Given the description of an element on the screen output the (x, y) to click on. 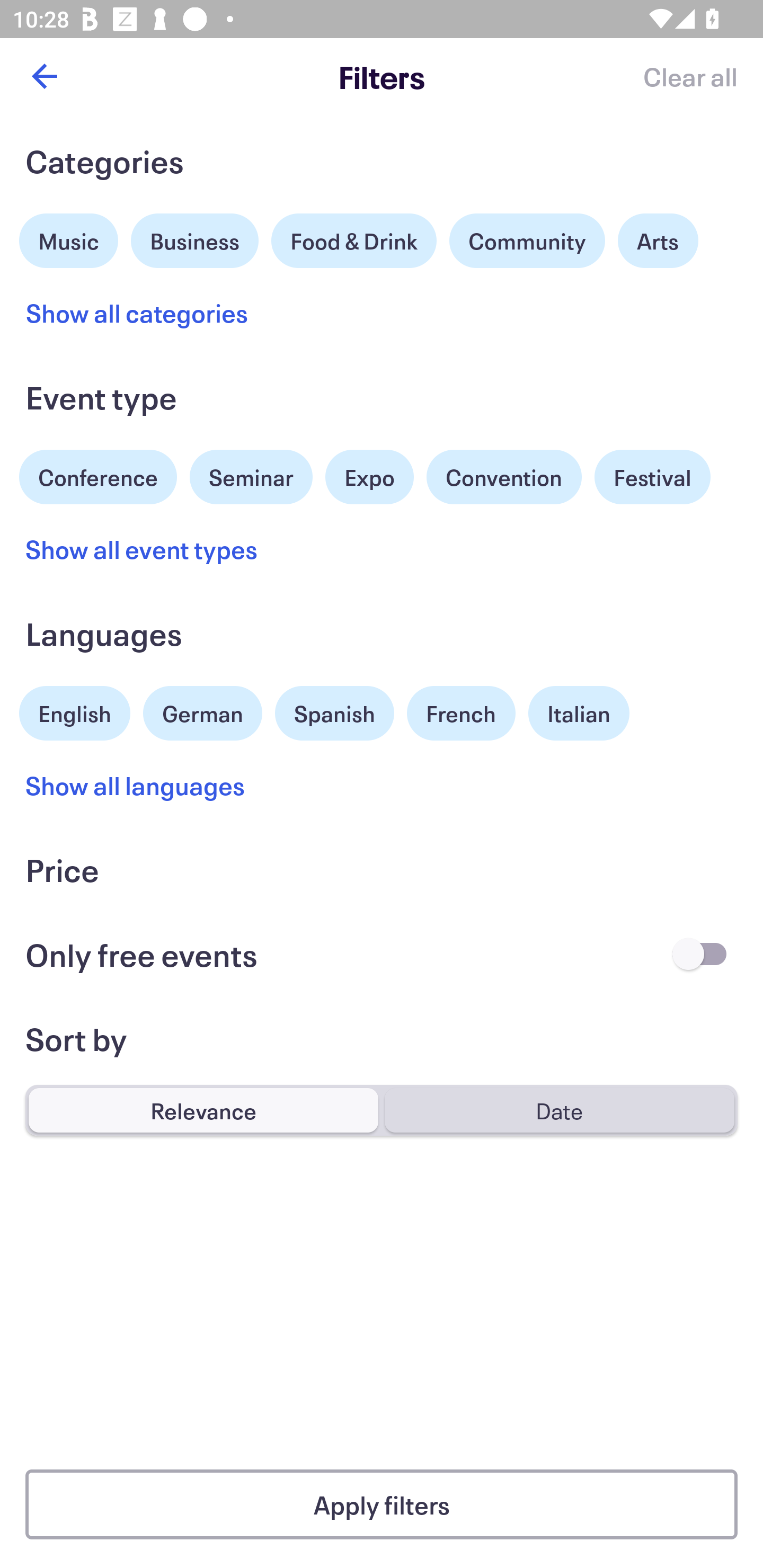
Back button (44, 75)
Clear all (690, 75)
Music (68, 238)
Business (194, 238)
Food & Drink (353, 240)
Community (527, 240)
Arts (658, 240)
Show all categories (136, 312)
Conference (98, 475)
Seminar (250, 477)
Expo (369, 477)
Convention (503, 477)
Festival (652, 477)
Show all event types (141, 548)
English (74, 710)
German (202, 710)
Spanish (334, 713)
French (460, 713)
Italian (578, 713)
Show all languages (135, 784)
Relevance (203, 1109)
Date (559, 1109)
Apply filters (381, 1504)
